Given the description of an element on the screen output the (x, y) to click on. 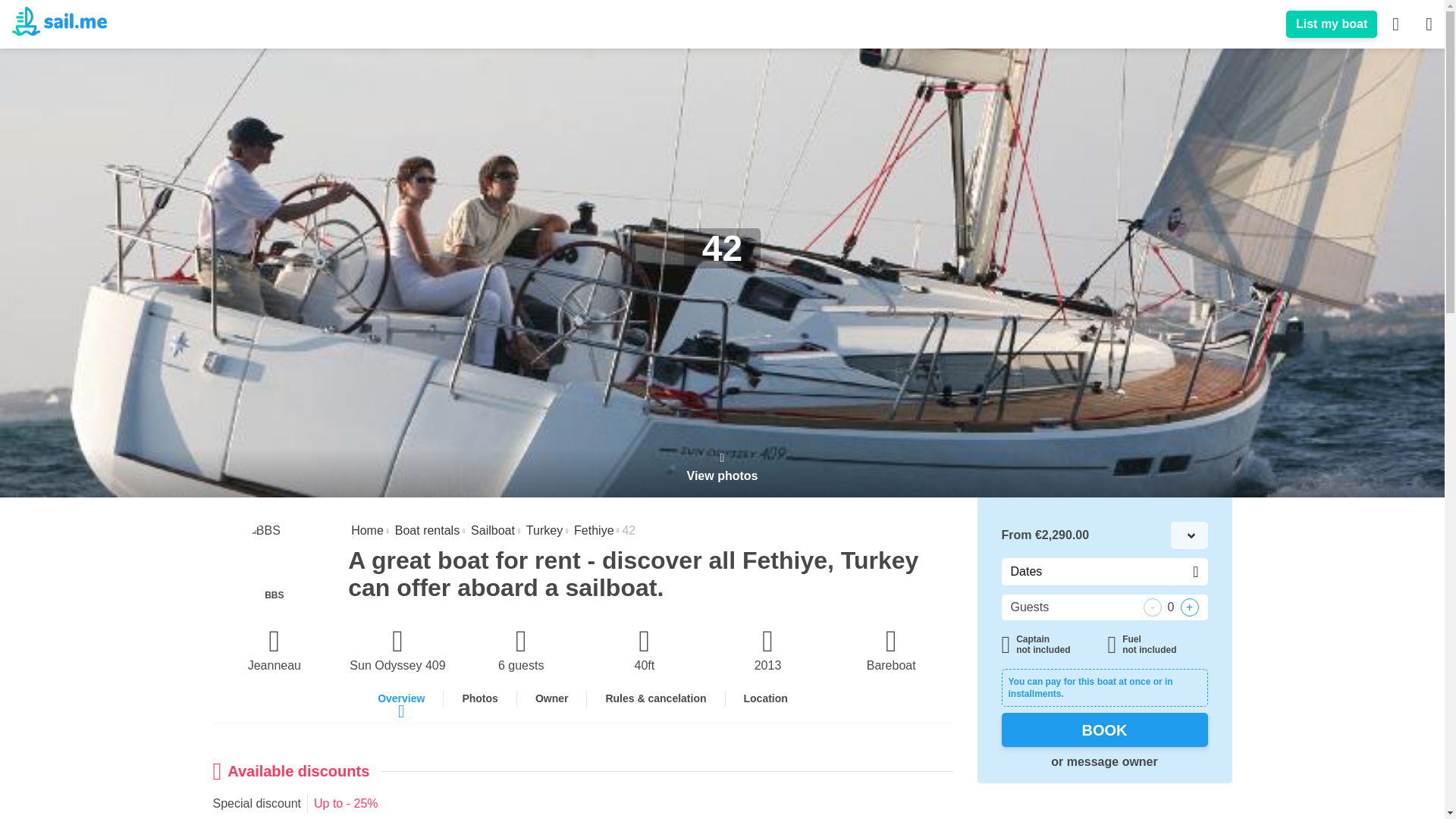
Browse boats on sail.me (425, 530)
Capacity (521, 650)
List my boat (1331, 23)
Sailboats boats on sail.me (491, 530)
Click to visit sail.me's home page (58, 23)
Search boats in Fethiye (591, 530)
Search boats in Turkey (542, 530)
- (1151, 607)
Year built (767, 650)
Model (398, 650)
